Given the description of an element on the screen output the (x, y) to click on. 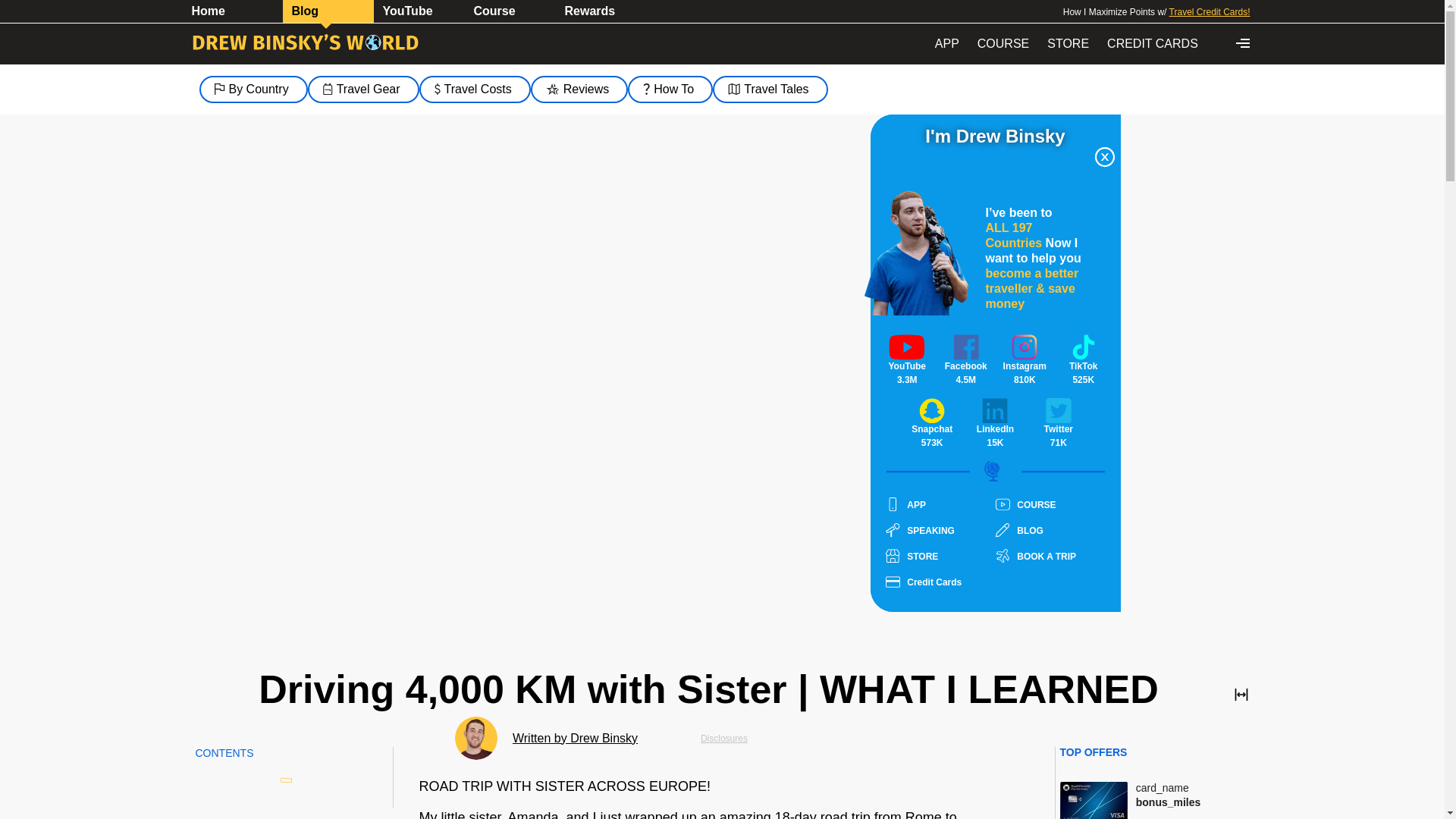
Home (236, 11)
YouTube (418, 11)
Travel Gear (363, 89)
SPEAKING (940, 530)
Travel Costs (475, 89)
Course (509, 11)
YouTube (418, 11)
APP (947, 43)
Disclosures (724, 738)
Travel Credit Cards! (1209, 11)
